Given the description of an element on the screen output the (x, y) to click on. 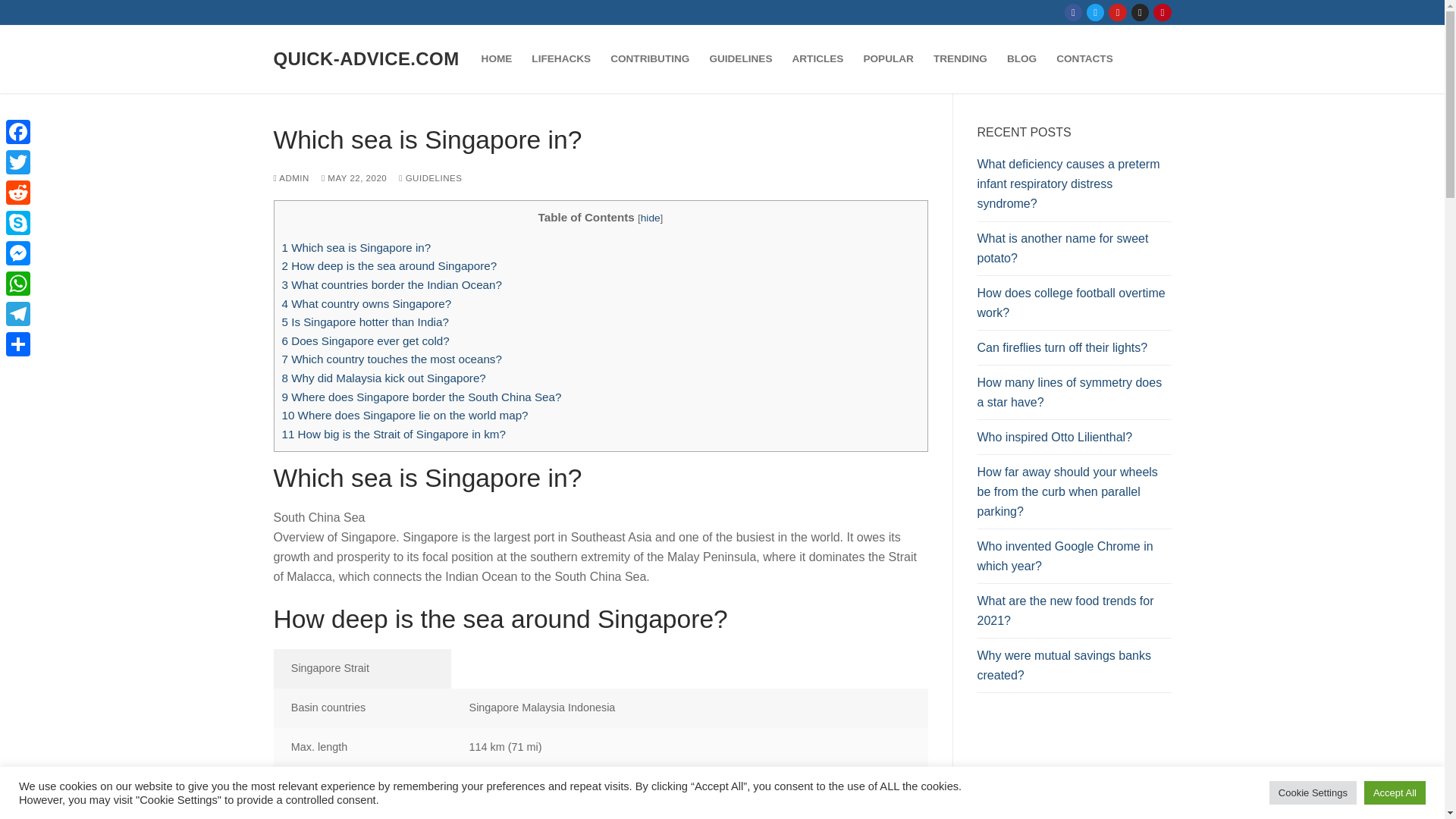
ARTICLES (817, 59)
9 Where does Singapore border the South China Sea? (422, 396)
Instagram (1139, 12)
7 Which country touches the most oceans? (392, 358)
1 Which sea is Singapore in? (356, 246)
8 Why did Malaysia kick out Singapore? (384, 377)
BLOG (1021, 59)
Twitter (1095, 12)
11 How big is the Strait of Singapore in km? (393, 433)
LIFEHACKS (560, 59)
4 What country owns Singapore? (366, 303)
Youtube (1117, 12)
HOME (496, 59)
6 Does Singapore ever get cold? (365, 340)
3 What countries border the Indian Ocean? (392, 284)
